Given the description of an element on the screen output the (x, y) to click on. 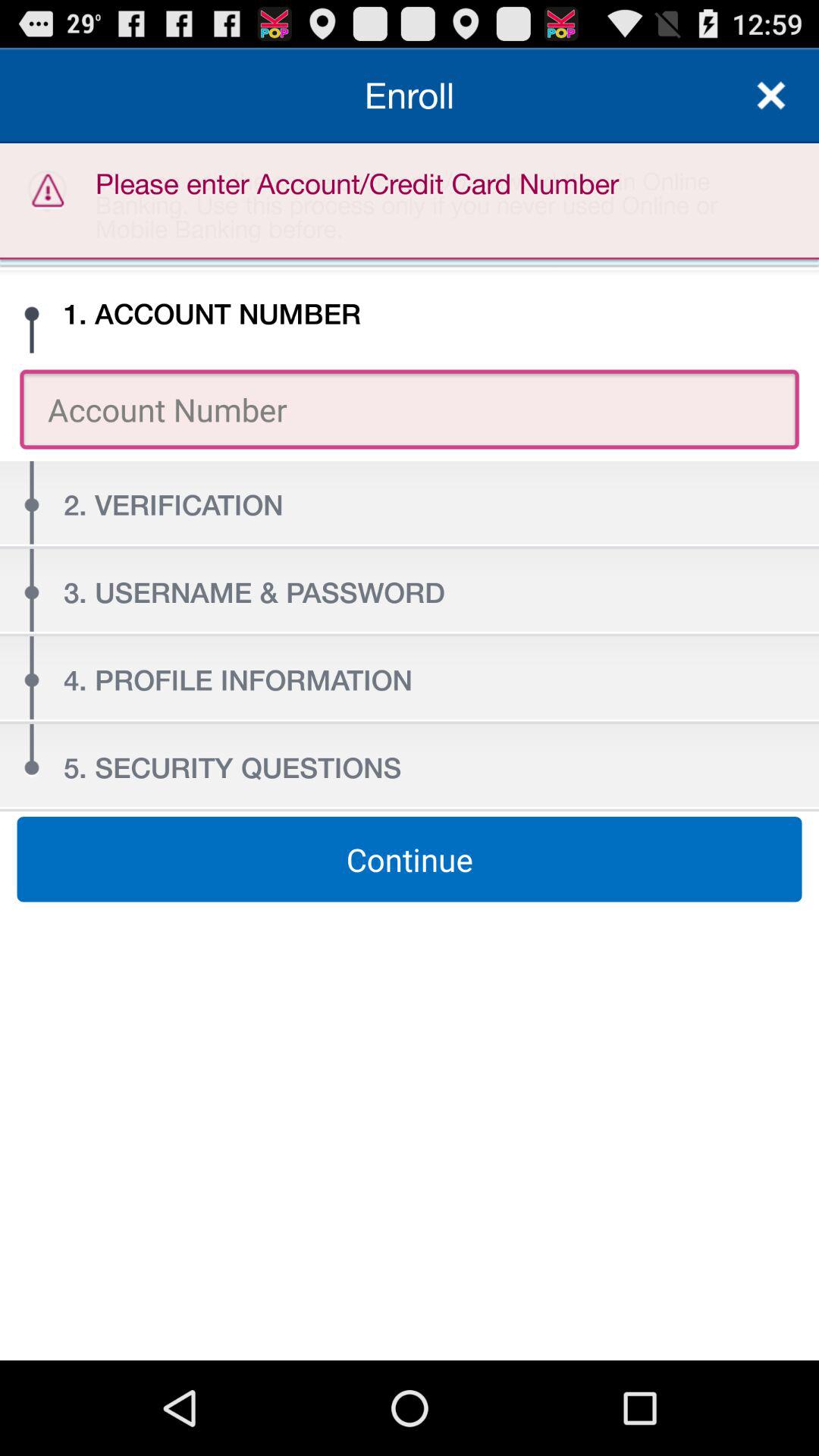
close enroll section (771, 95)
